Given the description of an element on the screen output the (x, y) to click on. 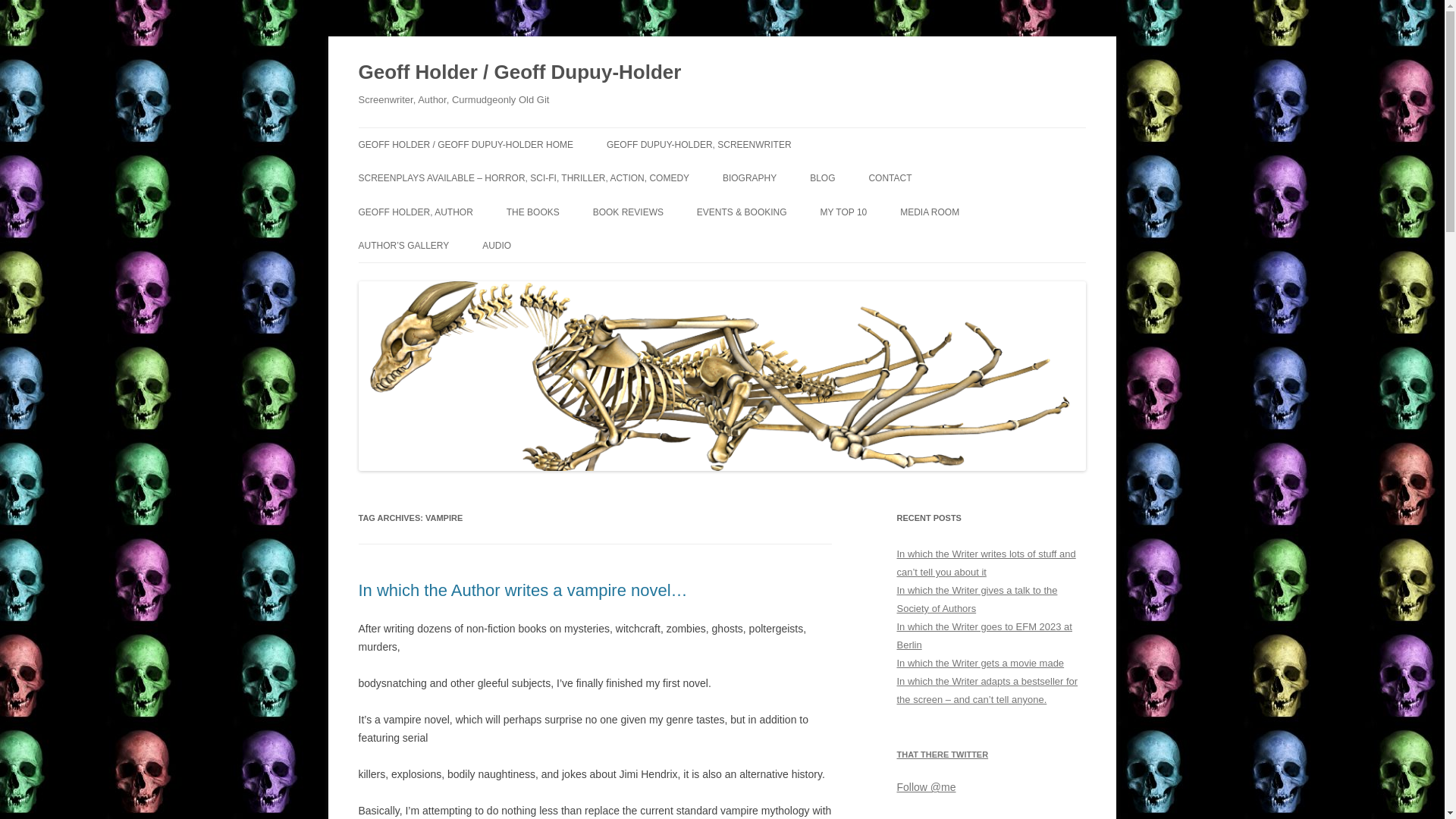
GEOFF HOLDER, AUTHOR (414, 212)
CONTACT (889, 177)
BIOGRAPHY (749, 177)
MEDIA ROOM (929, 212)
MY TOP 10 (842, 212)
BOOK REVIEWS (627, 212)
THE BOOKS (532, 212)
Skip to content (757, 132)
GEOFF DUPUY-HOLDER, SCREENWRITER (699, 144)
Skip to content (757, 132)
